Given the description of an element on the screen output the (x, y) to click on. 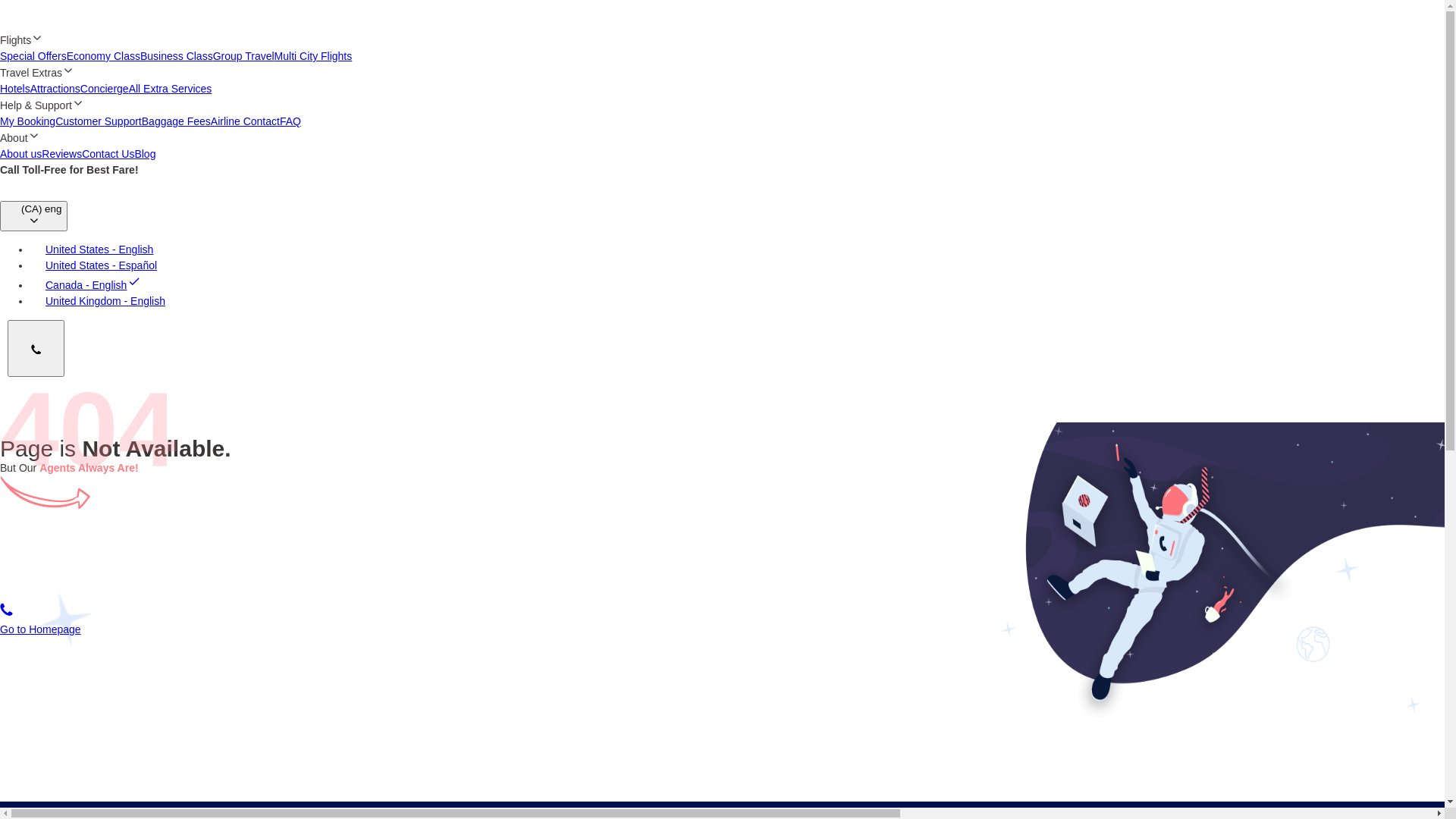
Customer Support Element type: text (98, 121)
About us Element type: text (20, 153)
FAQ Element type: text (290, 121)
Go to Homepage Element type: text (40, 629)
Group Travel Element type: text (243, 56)
All Extra Services Element type: text (170, 88)
Concierge Element type: text (104, 88)
Canada - English Element type: text (85, 285)
United Kingdom - English Element type: text (97, 300)
Reviews Element type: text (61, 153)
Contact Us Element type: text (107, 153)
Multi City Flights Element type: text (313, 56)
Business Class Element type: text (176, 56)
Hotels Element type: text (15, 88)
Blog Element type: text (144, 153)
Economy Class Element type: text (103, 56)
(CA) eng Element type: text (33, 215)
Baggage Fees Element type: text (175, 121)
My Booking Element type: text (27, 121)
United States - English Element type: text (91, 249)
Airline Contact Element type: text (244, 121)
Attractions Element type: text (55, 88)
Special Offers Element type: text (33, 56)
